Given the description of an element on the screen output the (x, y) to click on. 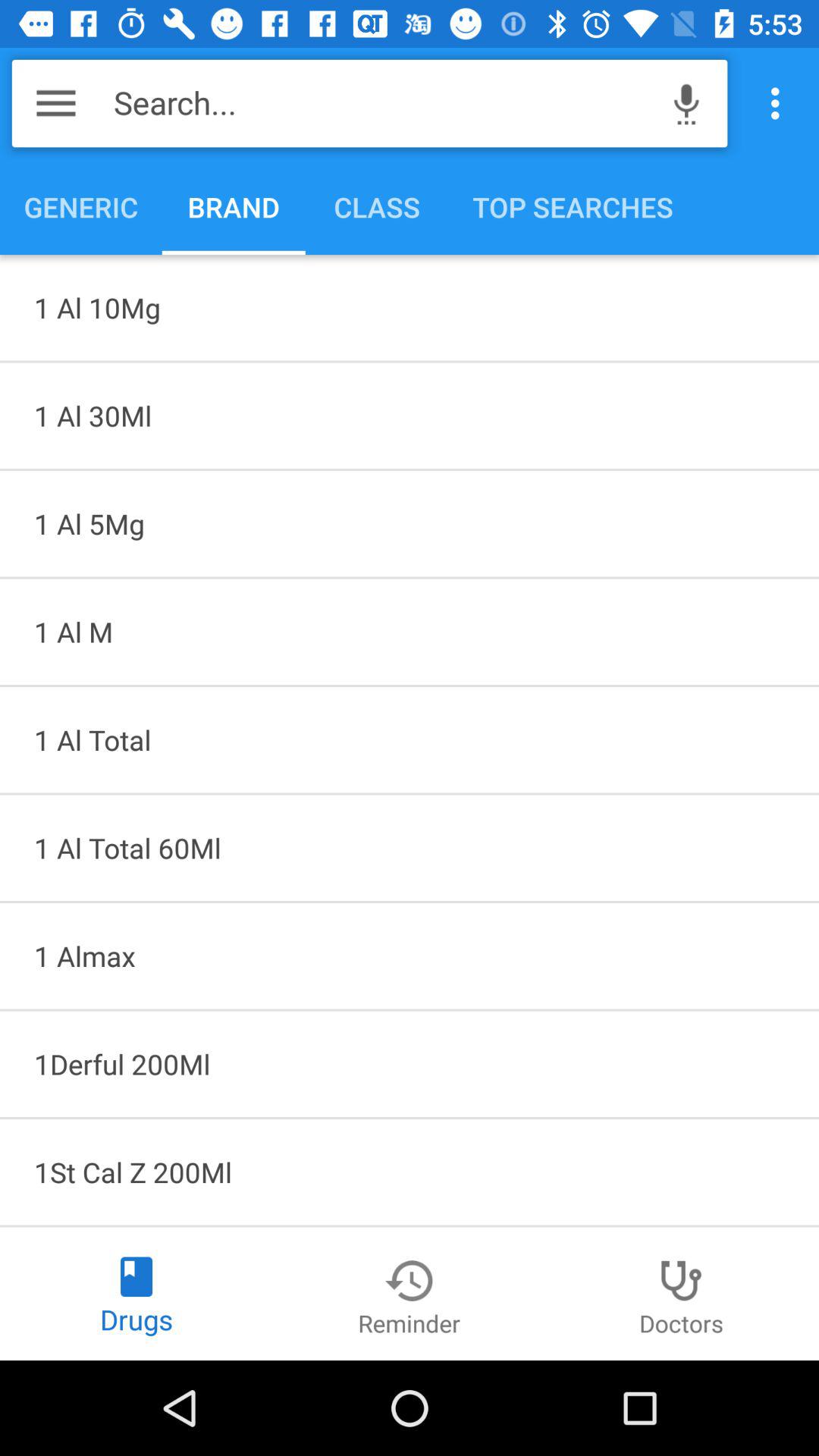
choose the icon below the 1 al total (409, 955)
